Given the description of an element on the screen output the (x, y) to click on. 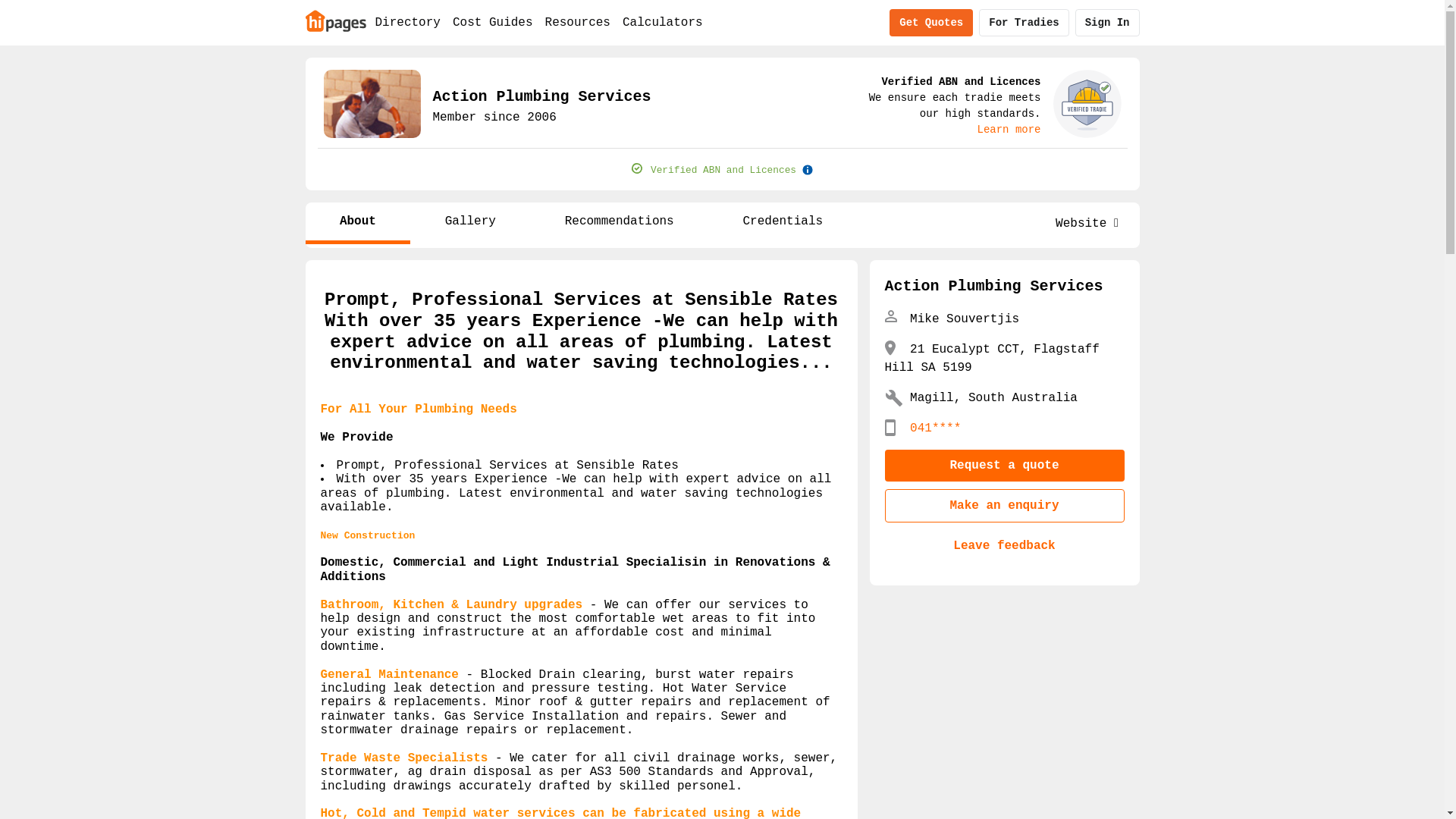
Recommendations Element type: text (619, 223)
About Element type: text (357, 223)
Resources Element type: text (577, 22)
Cost Guides Element type: text (492, 22)
Sign In Element type: text (1107, 22)
Get Quotes Element type: text (930, 22)
Calculators Element type: text (662, 22)
Make an enquiry Element type: text (1003, 505)
For Tradies Element type: text (1023, 22)
Credentials Element type: text (782, 223)
Directory Element type: text (406, 22)
041**** Element type: text (935, 428)
Learn more Element type: text (1008, 130)
Gallery Element type: text (470, 223)
Home Element type: hover (334, 20)
Leave feedback Element type: text (1003, 545)
Request a quote Element type: text (1003, 465)
